Given the description of an element on the screen output the (x, y) to click on. 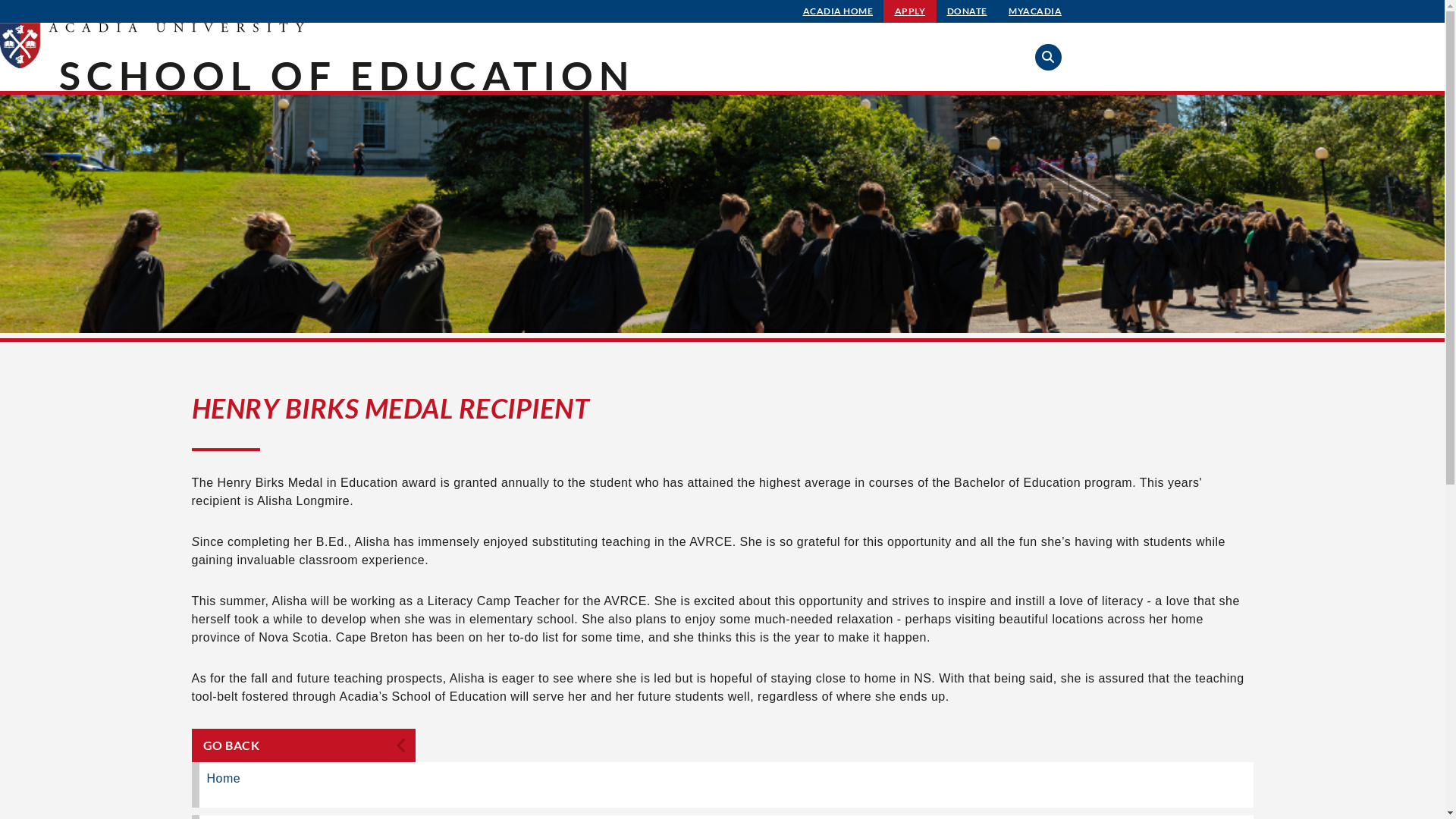
APPLY Element type: text (909, 11)
DONATE Element type: text (966, 11)
MYACADIA Element type: text (1035, 11)
SCHOOL OF EDUCATION Element type: text (346, 74)
Home Element type: text (721, 784)
ACADIA HOME Element type: text (837, 11)
GO BACK Element type: text (302, 745)
